Given the description of an element on the screen output the (x, y) to click on. 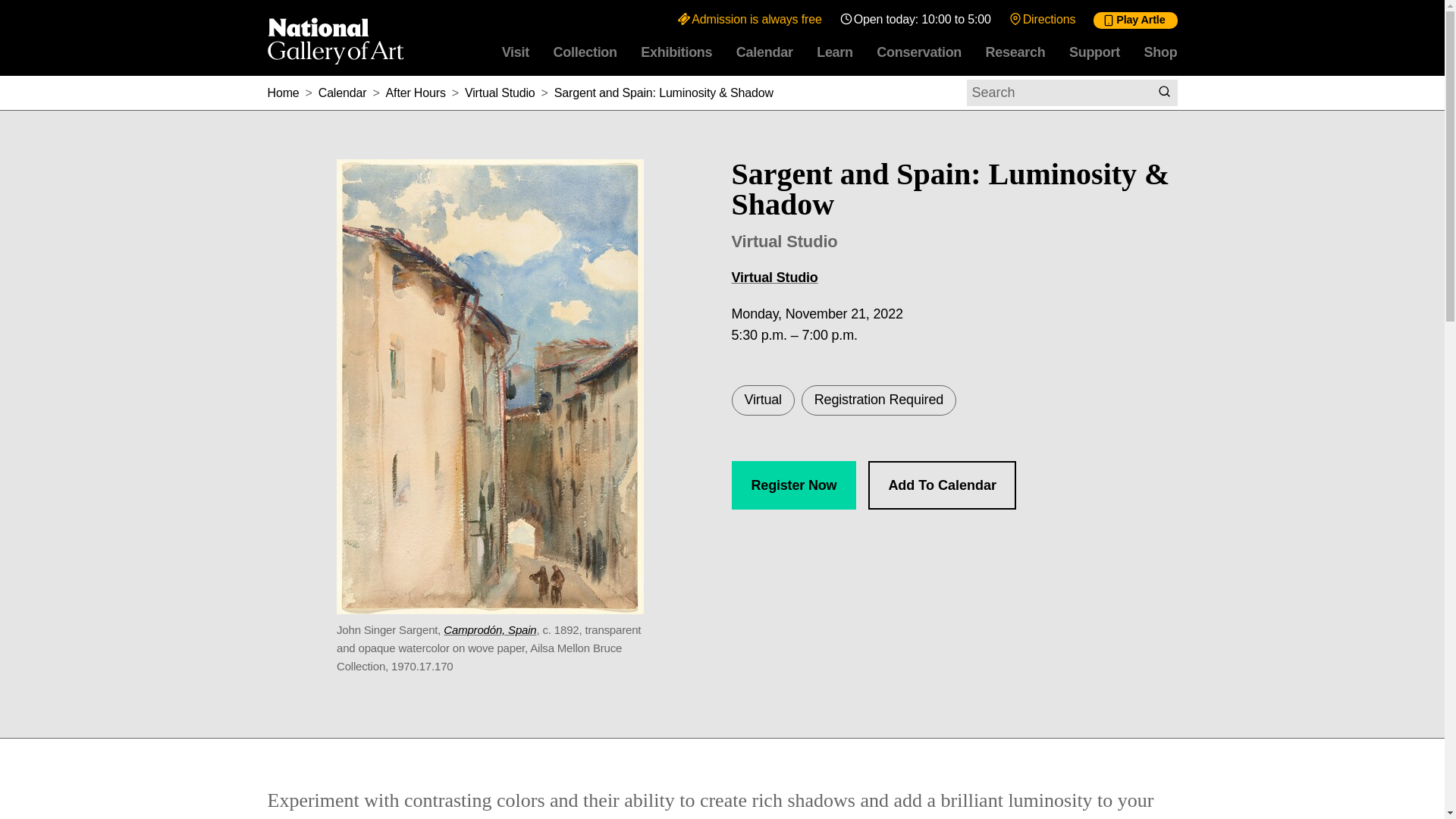
Directions (1042, 19)
Calendar (763, 52)
Admission is always free (749, 19)
Play Artle (1134, 20)
Exhibitions (675, 52)
Learn (834, 52)
Collection (585, 52)
